Given the description of an element on the screen output the (x, y) to click on. 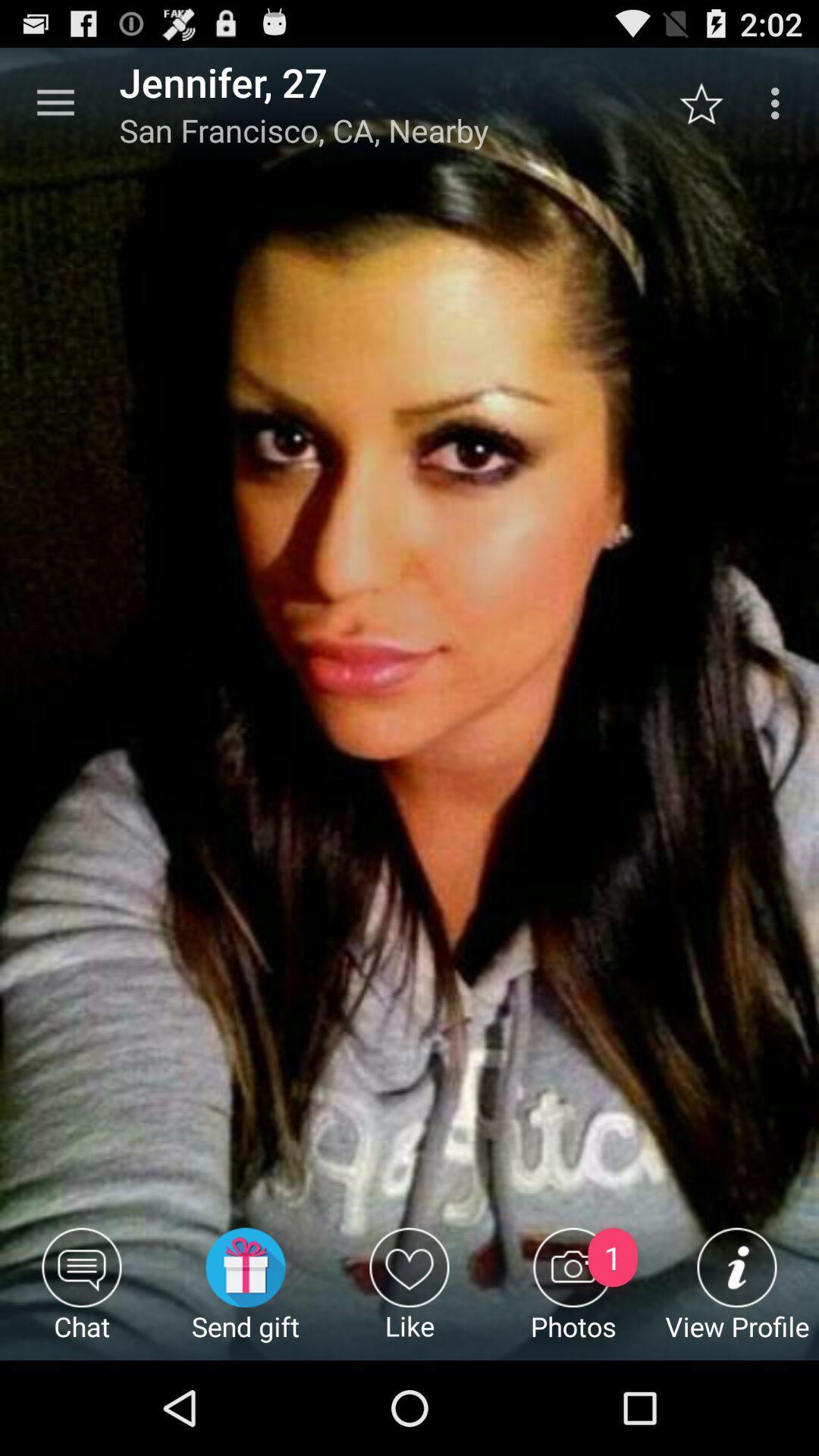
click the app next to jennifer, 27 icon (55, 103)
